Given the description of an element on the screen output the (x, y) to click on. 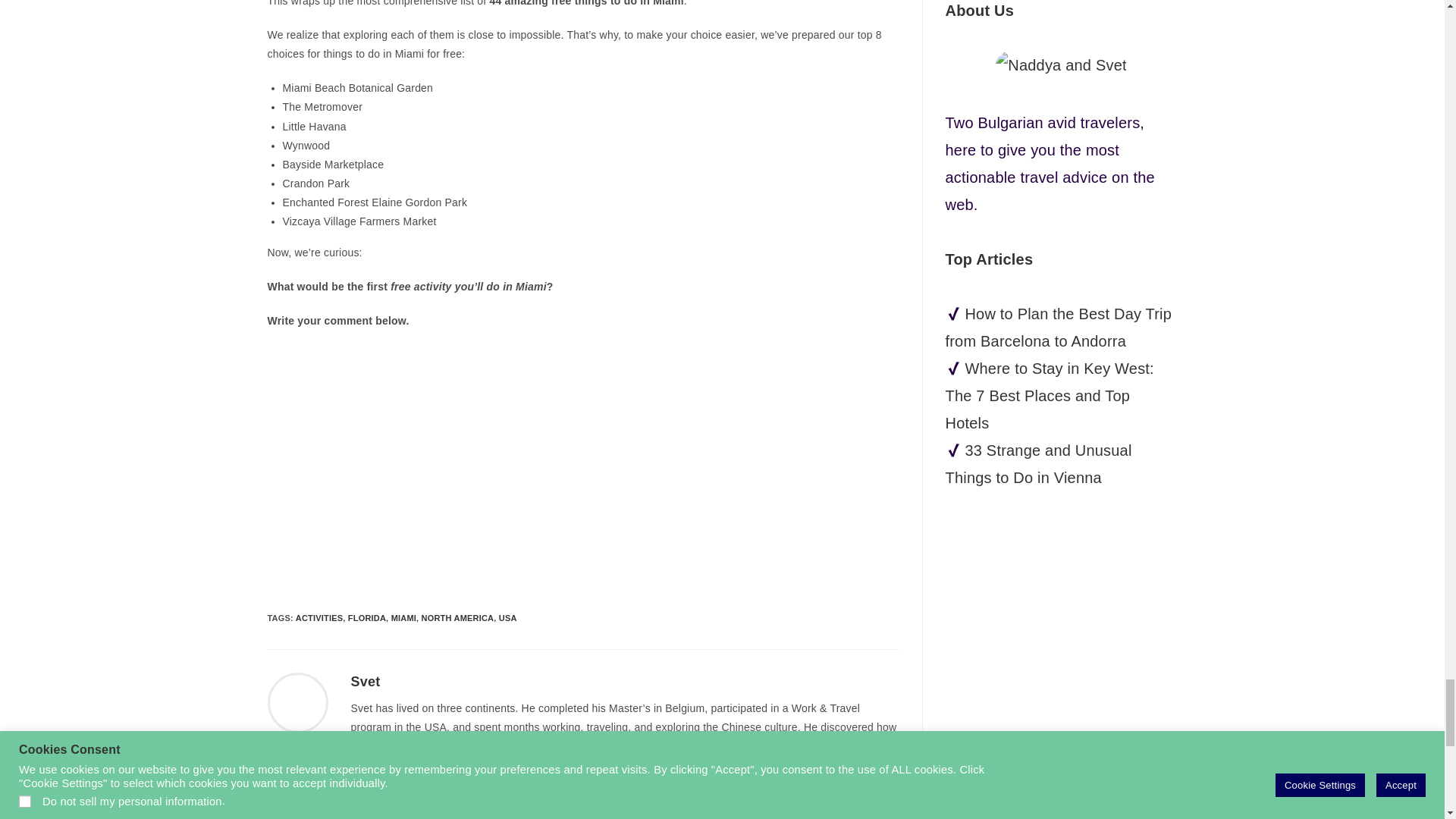
Visit author page (296, 702)
Visit author page (365, 681)
